Given the description of an element on the screen output the (x, y) to click on. 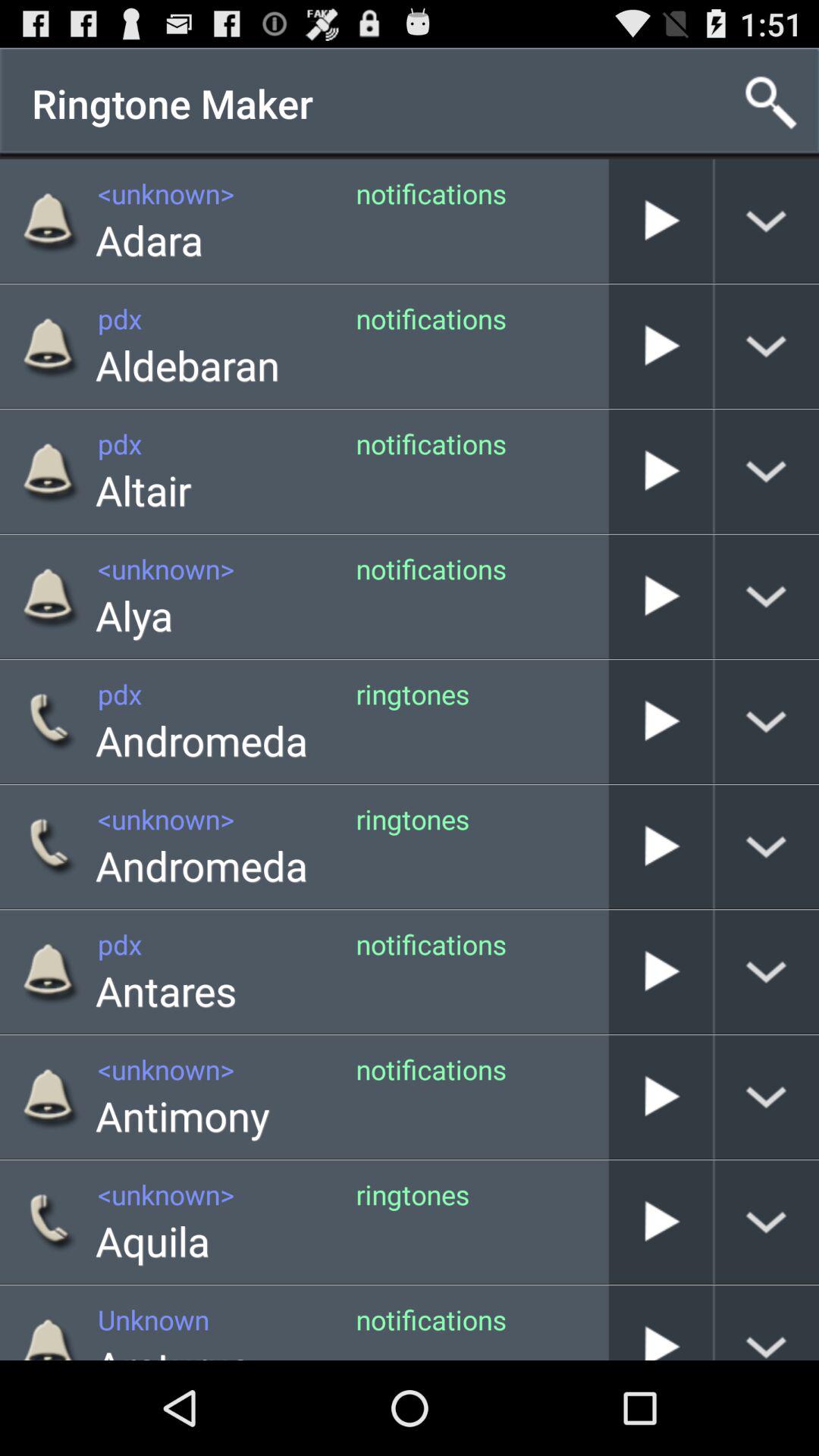
display more options (767, 1222)
